Given the description of an element on the screen output the (x, y) to click on. 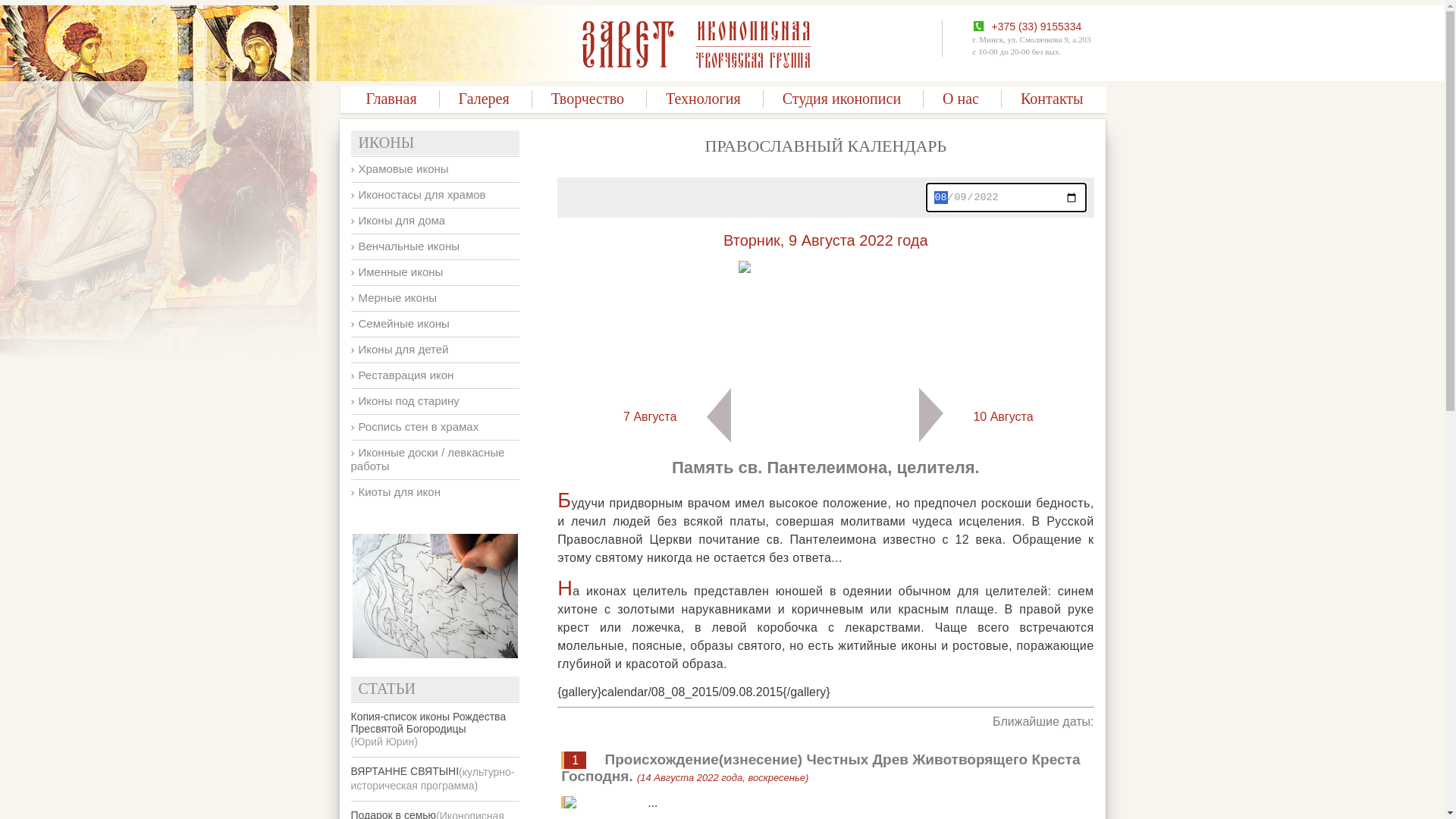
+375 (33) 9155334 Element type: text (1036, 26)
